Given the description of an element on the screen output the (x, y) to click on. 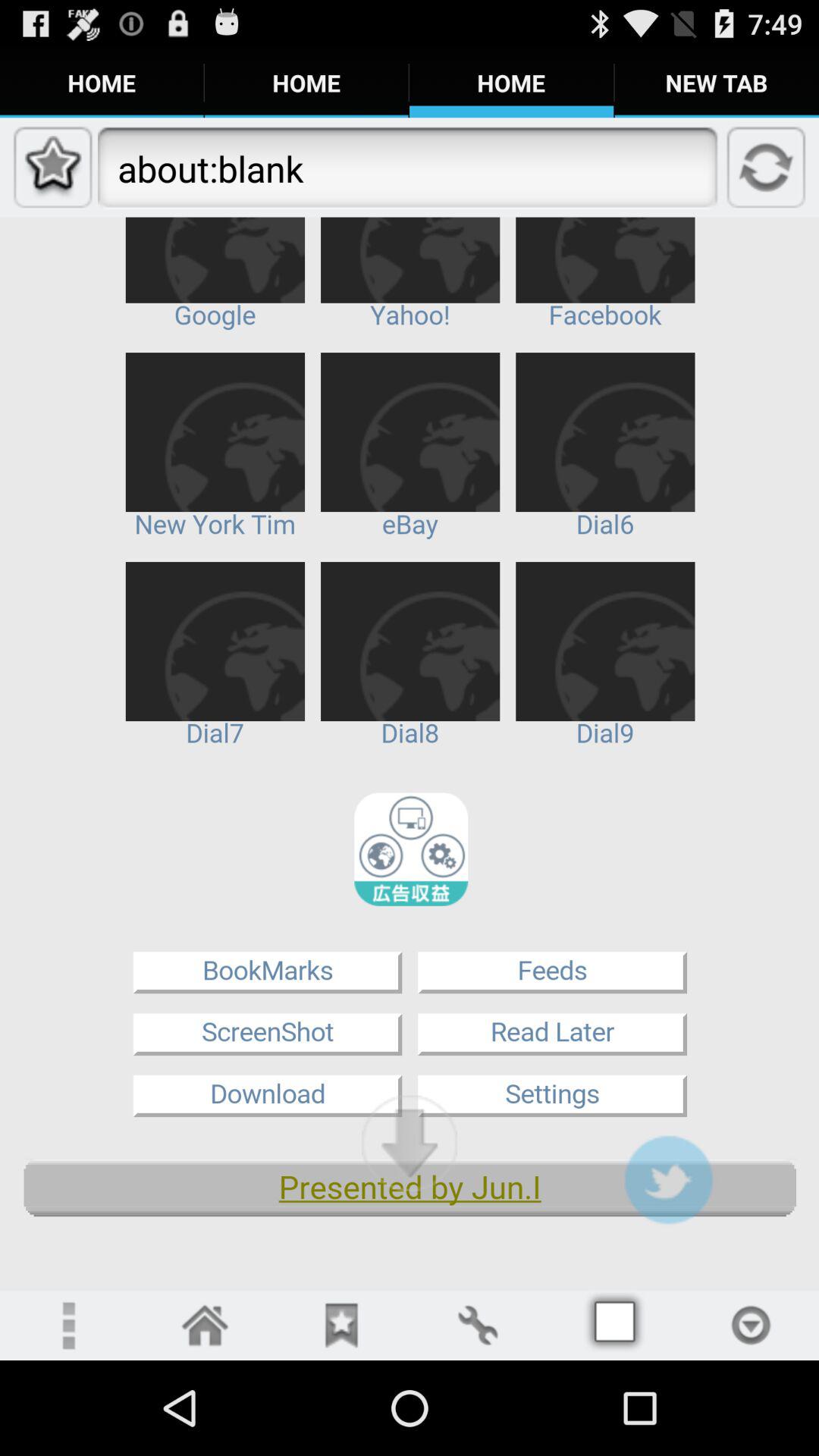
twitter (668, 1179)
